Given the description of an element on the screen output the (x, y) to click on. 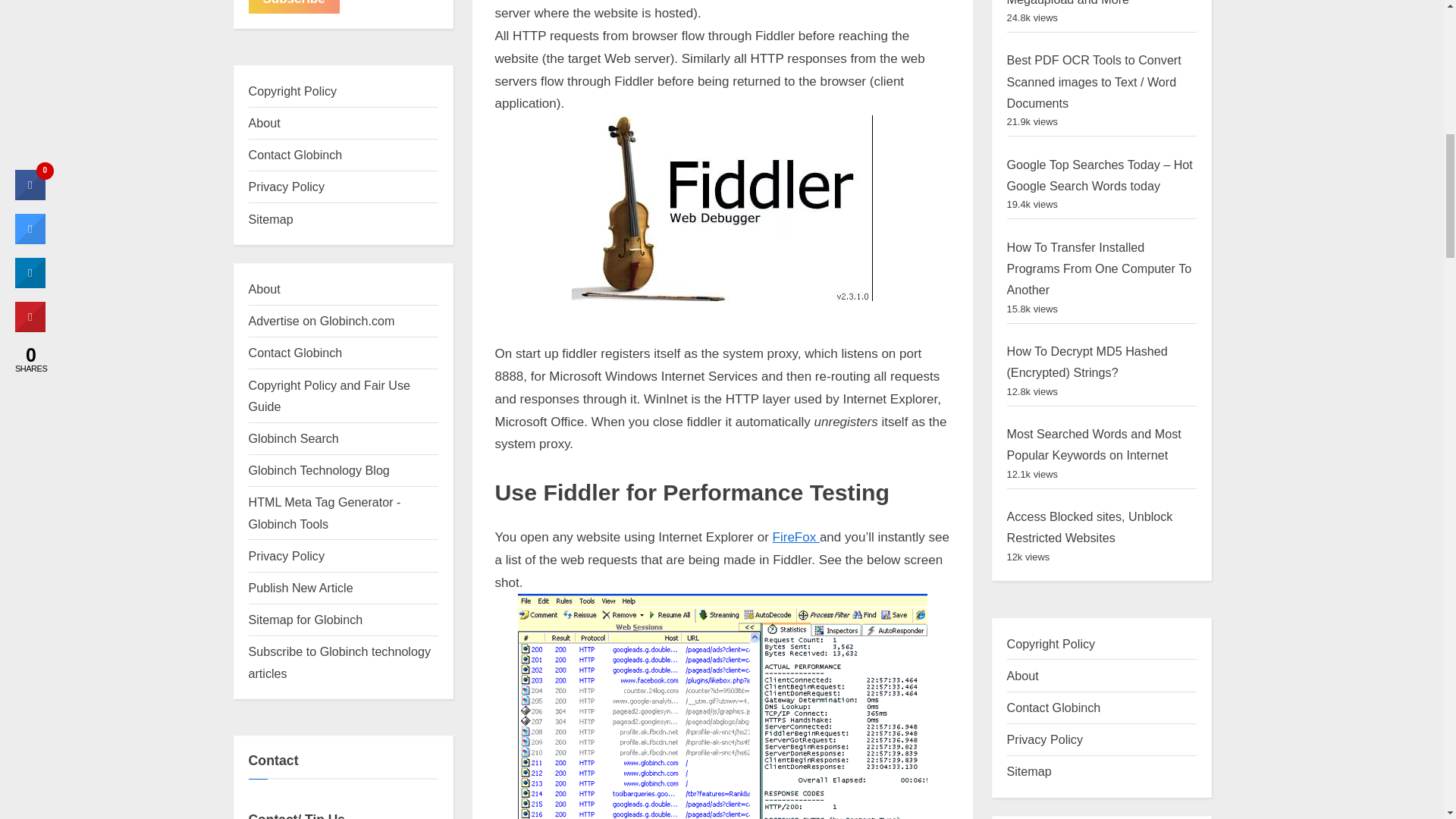
fiddler-http-traffic-debugger -fiddler http proxy (722, 208)
FireFox (796, 536)
Subscribe (293, 6)
